Given the description of an element on the screen output the (x, y) to click on. 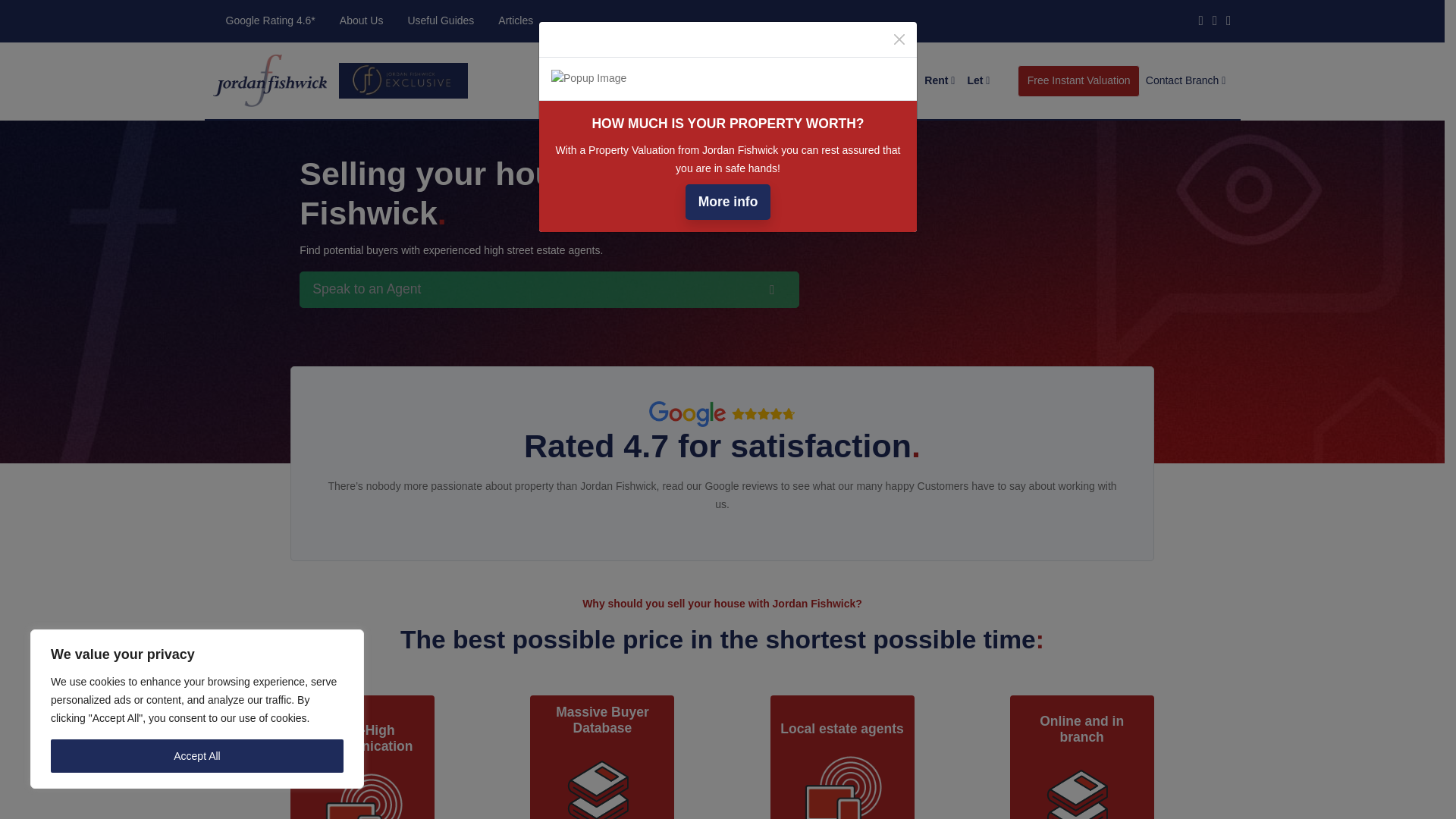
Useful Guides (440, 20)
About Us (361, 20)
Articles (515, 20)
Accept All (196, 756)
Buy (860, 81)
